Given the description of an element on the screen output the (x, y) to click on. 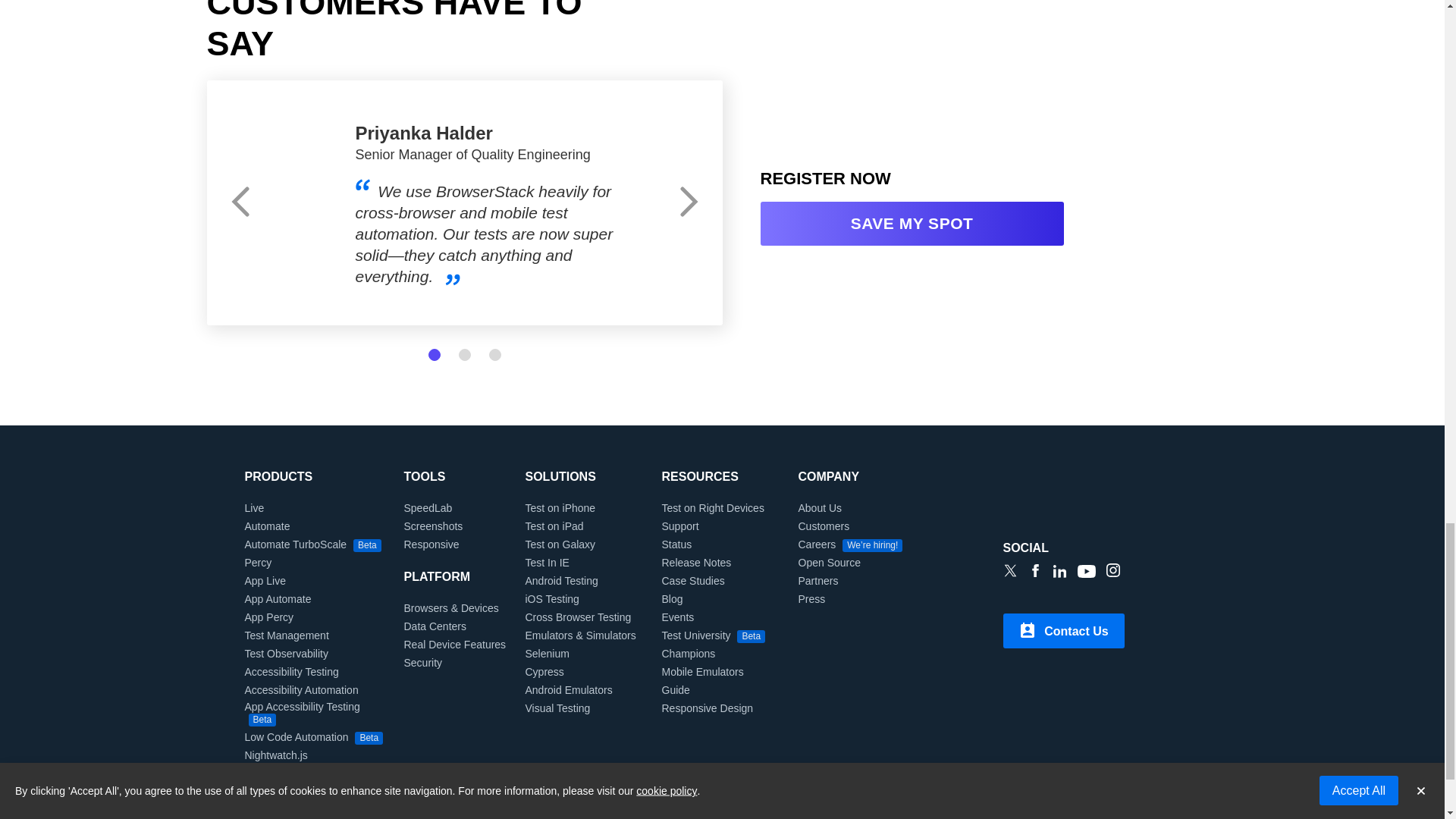
Automate TurboScale Beta (312, 545)
Test Management (286, 635)
Test Observability (285, 653)
Test on iPhone (559, 508)
Live (253, 508)
Data Centers (434, 625)
App Accessibility Testing Beta (316, 713)
Percy (257, 562)
Low Code Automation Beta (313, 737)
App Percy (269, 616)
SAVE MY SPOT (911, 223)
Accessibility Automation (301, 689)
YouTube (1086, 572)
